Given the description of an element on the screen output the (x, y) to click on. 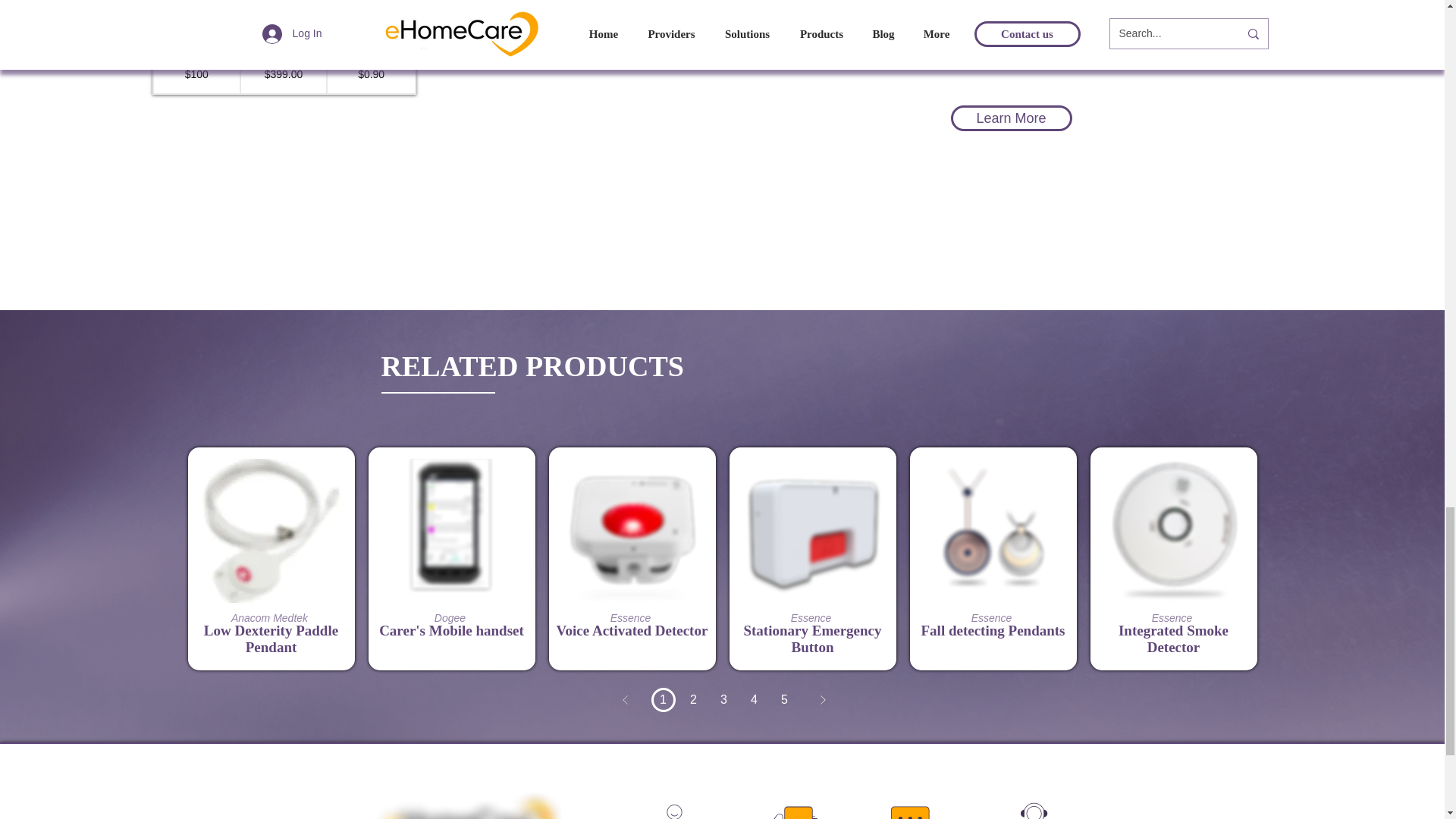
Read More (632, 590)
Learn More (1010, 118)
Read More (451, 590)
Read More (271, 590)
